Given the description of an element on the screen output the (x, y) to click on. 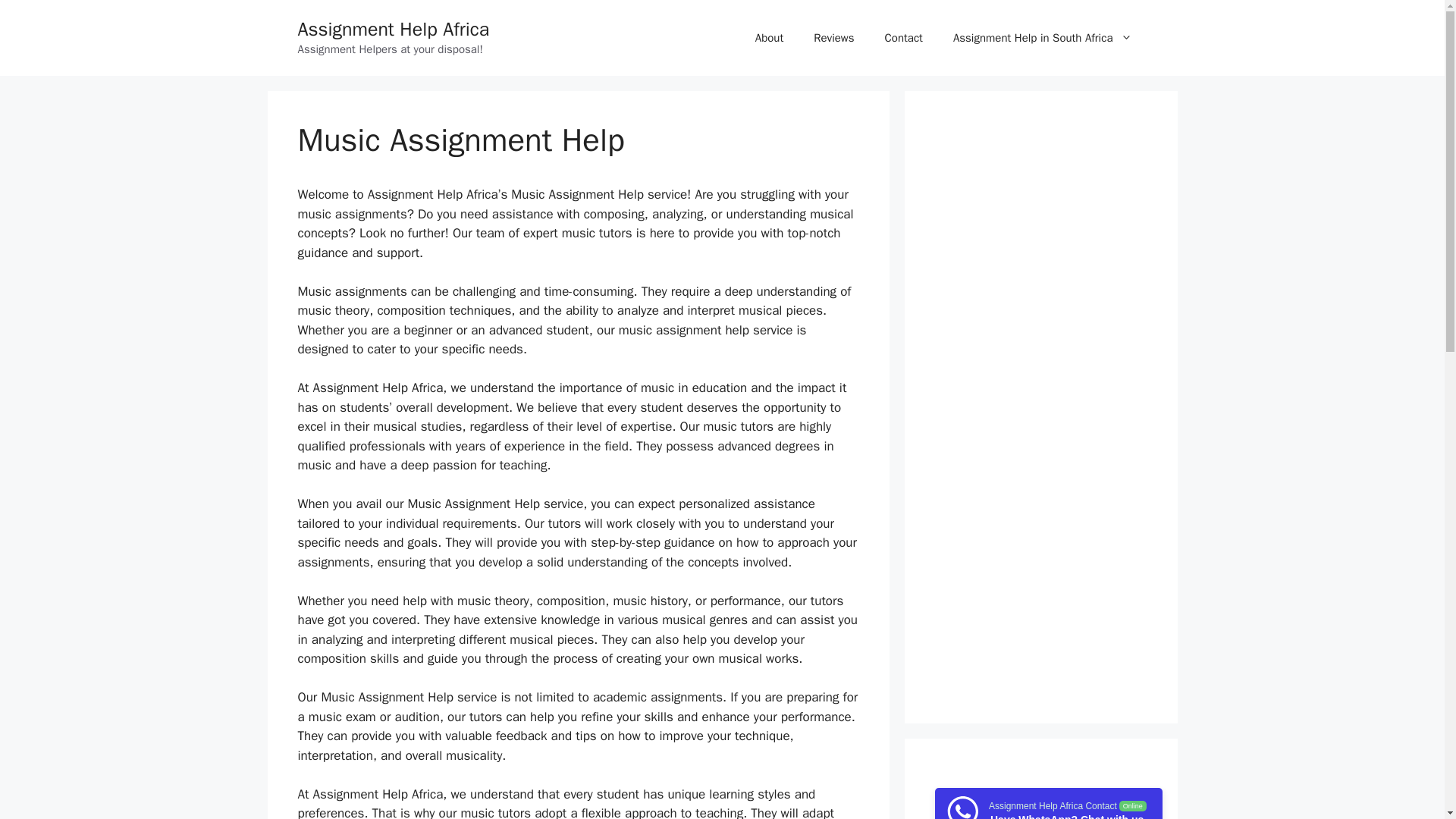
Assignment Help Africa (393, 28)
About (768, 37)
Assignment Help in South Africa (1042, 37)
Contact (903, 37)
Reviews (833, 37)
